Given the description of an element on the screen output the (x, y) to click on. 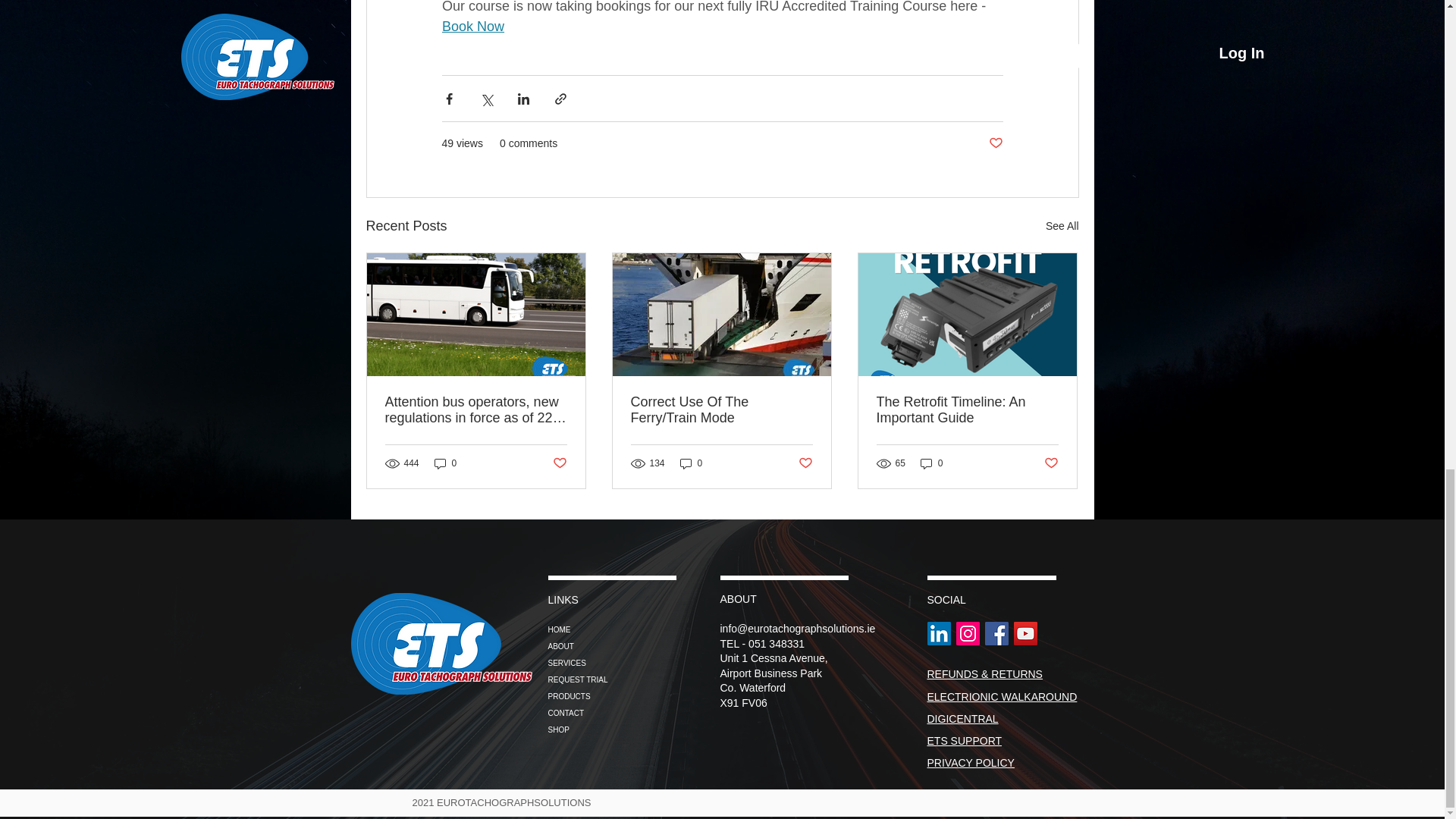
Book Now (472, 26)
See All (1061, 226)
The Retrofit Timeline: An Important Guide (967, 409)
Post not marked as liked (995, 143)
0 (931, 463)
0 (445, 463)
Post not marked as liked (804, 462)
Post not marked as liked (558, 462)
0 (691, 463)
